Given the description of an element on the screen output the (x, y) to click on. 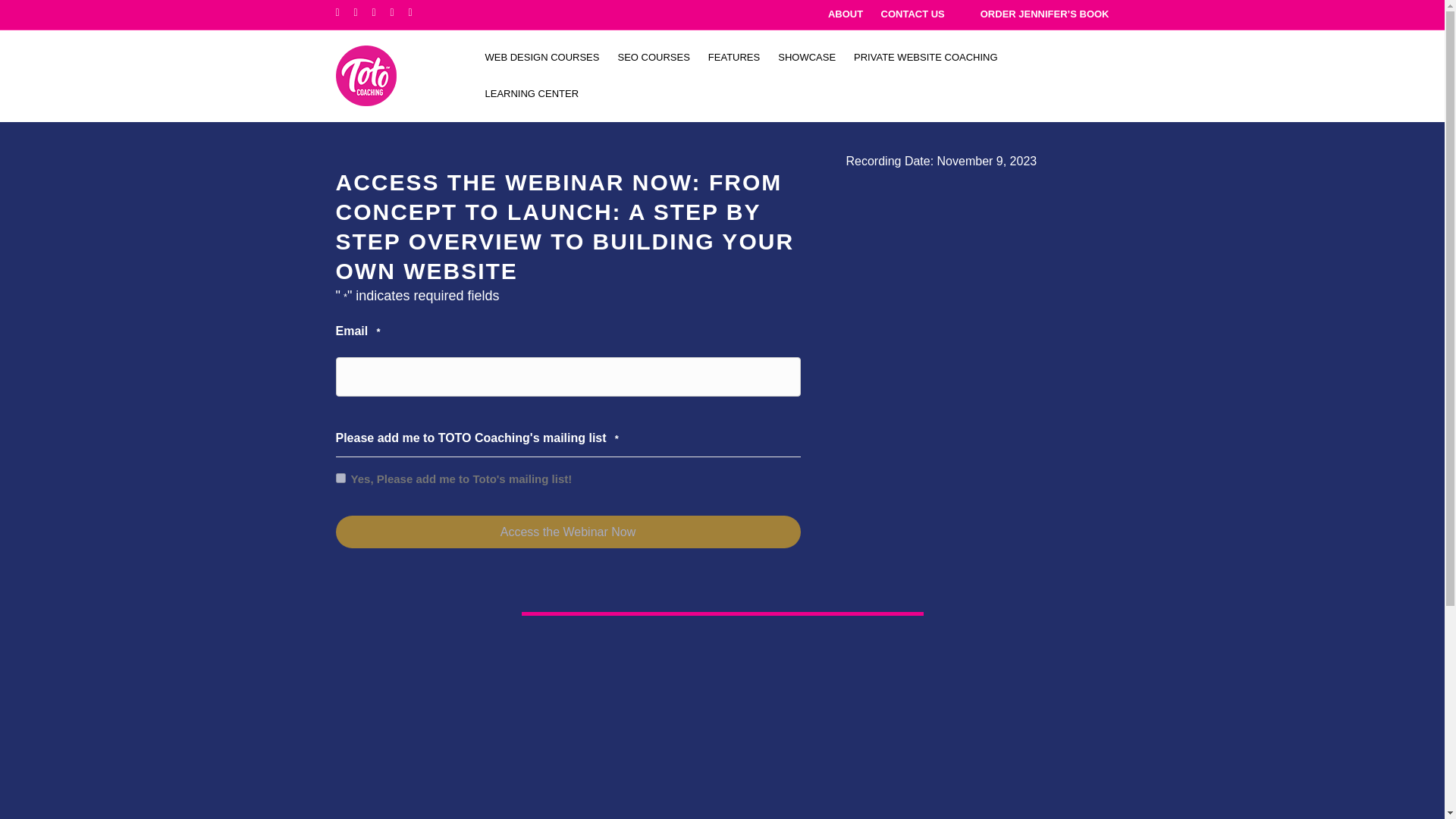
SHOWCASE (806, 57)
Access the Webinar Now (566, 531)
LEARNING CENTER (532, 94)
FEATURES (733, 57)
PRIVATE WEBSITE COACHING (925, 57)
Facebook (343, 11)
Instagram (416, 11)
Twitter (362, 11)
ABOUT (845, 13)
SEO COURSES (653, 57)
